Given the description of an element on the screen output the (x, y) to click on. 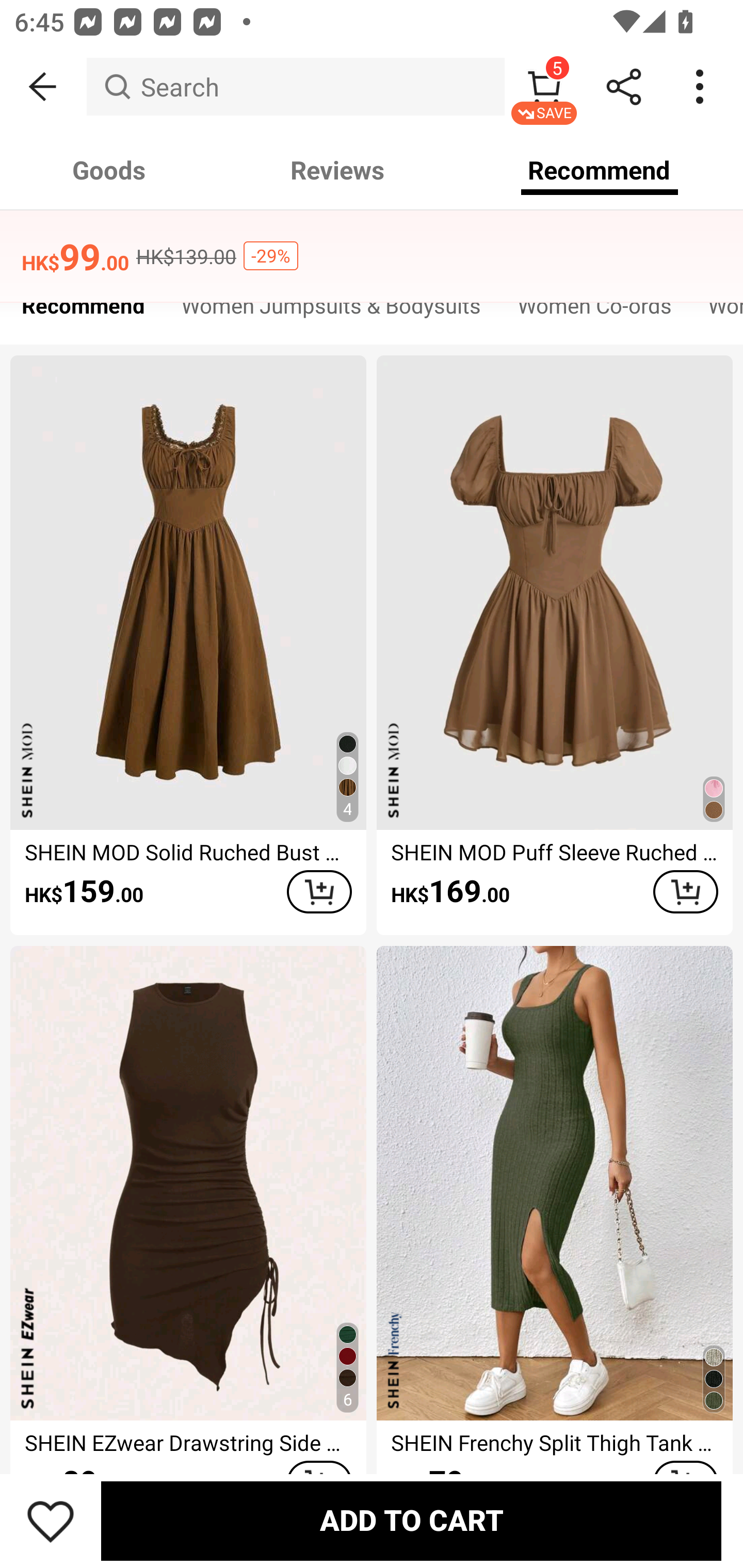
BACK (43, 86)
5 SAVE (543, 87)
Search (295, 87)
Reviews (337, 170)
You May Also Like (371, 244)
Recommend (82, 310)
Women Jumpsuits & Bodysuits (330, 310)
Women Co-ords (594, 310)
ADD TO CART (319, 892)
ADD TO CART (685, 892)
ADD TO CART (411, 1520)
Save (50, 1520)
